Given the description of an element on the screen output the (x, y) to click on. 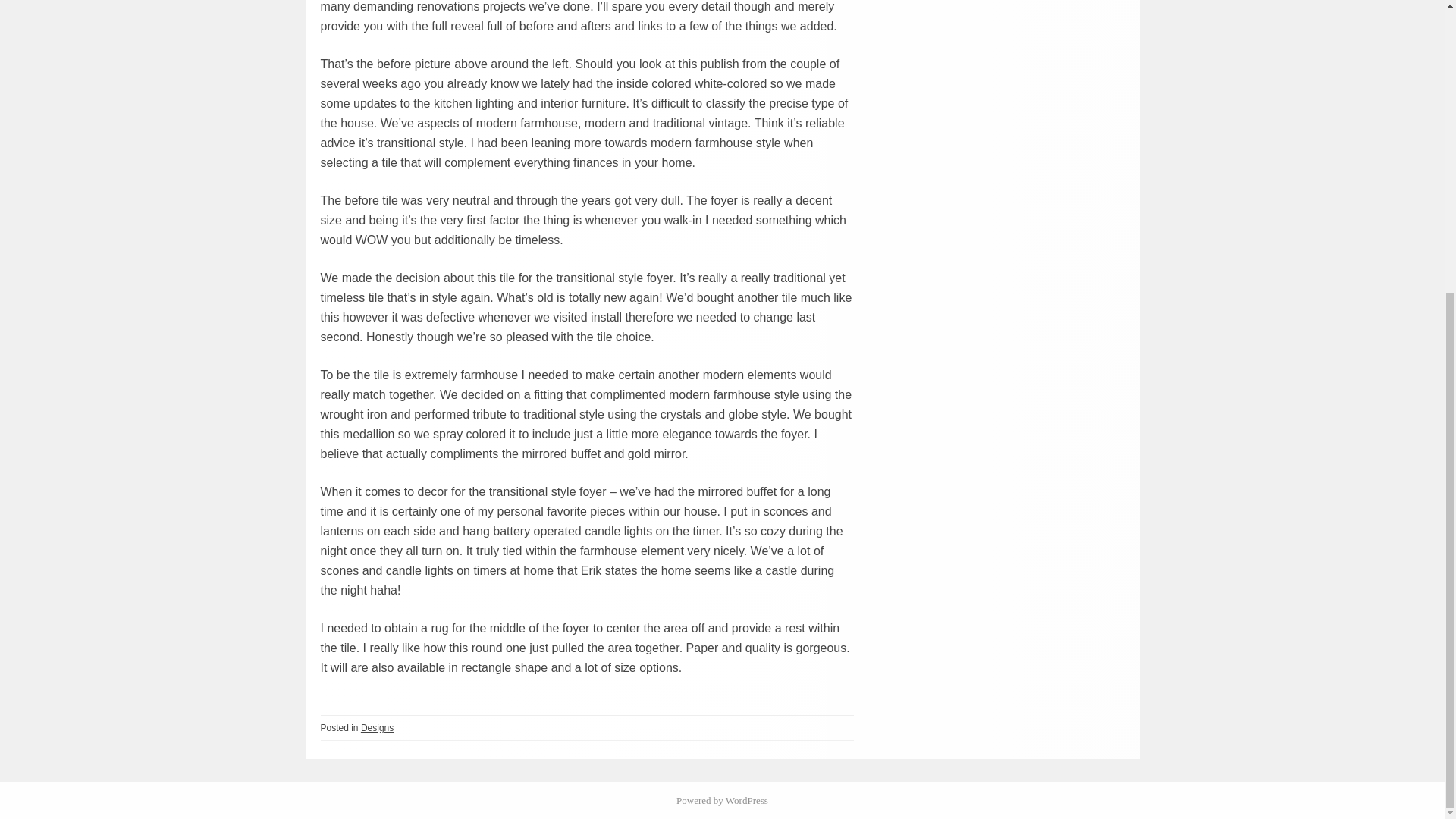
Designs (377, 727)
